Given the description of an element on the screen output the (x, y) to click on. 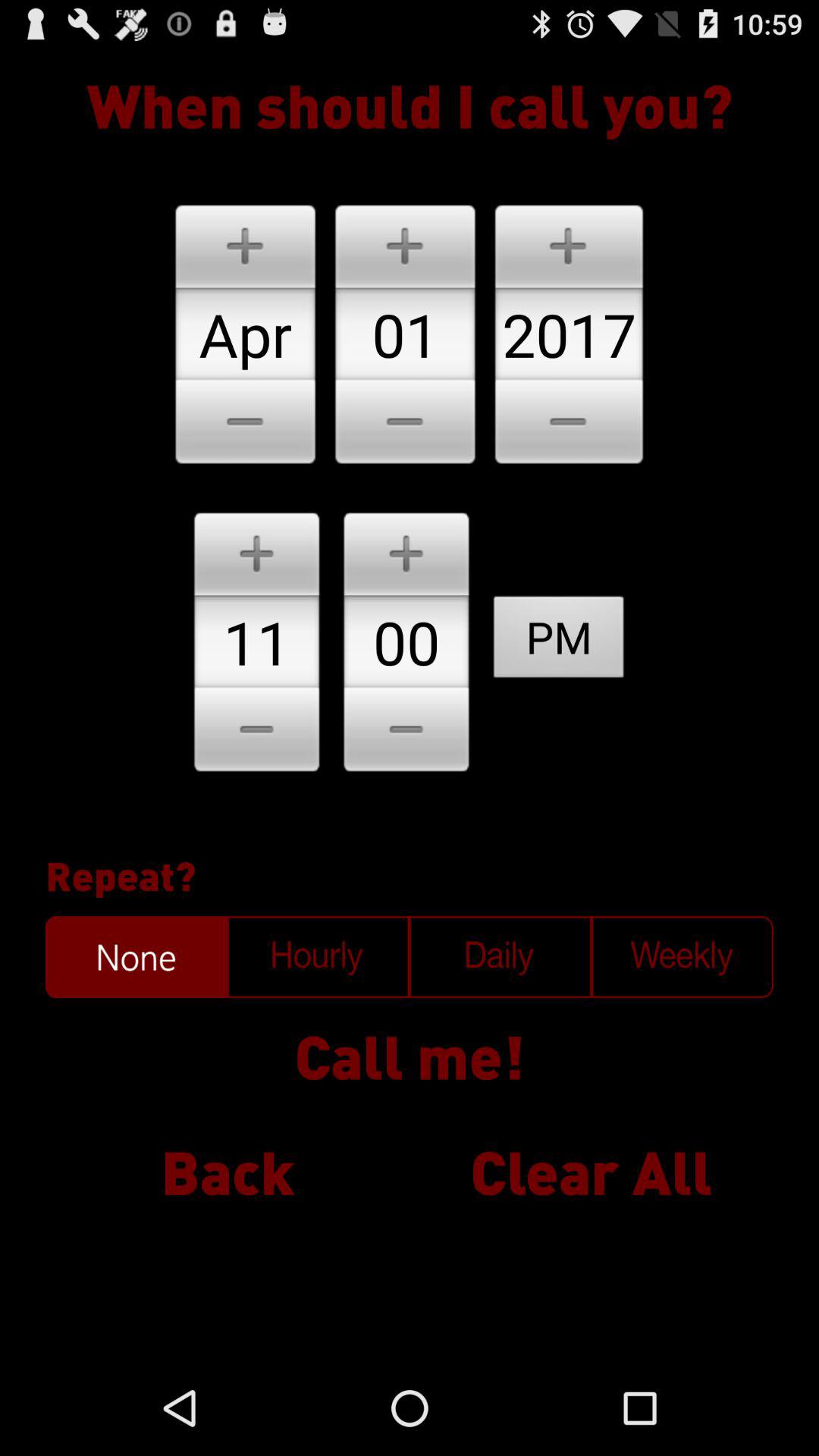
select to call daily (500, 957)
